Given the description of an element on the screen output the (x, y) to click on. 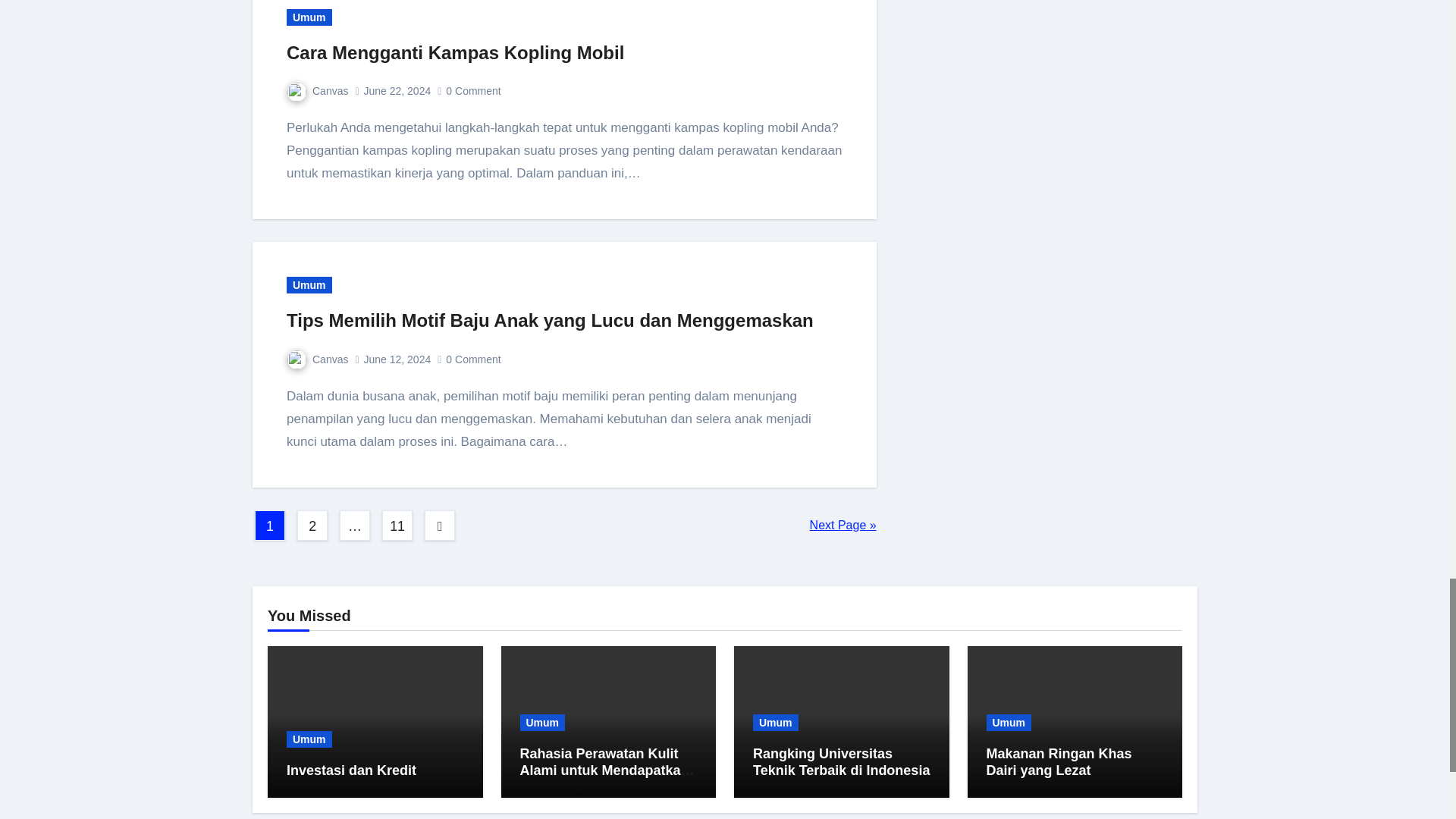
Permalink to: Investasi dan Kredit (351, 770)
Permalink to: Makanan Ringan Khas Dairi yang Lezat (1058, 762)
